Given the description of an element on the screen output the (x, y) to click on. 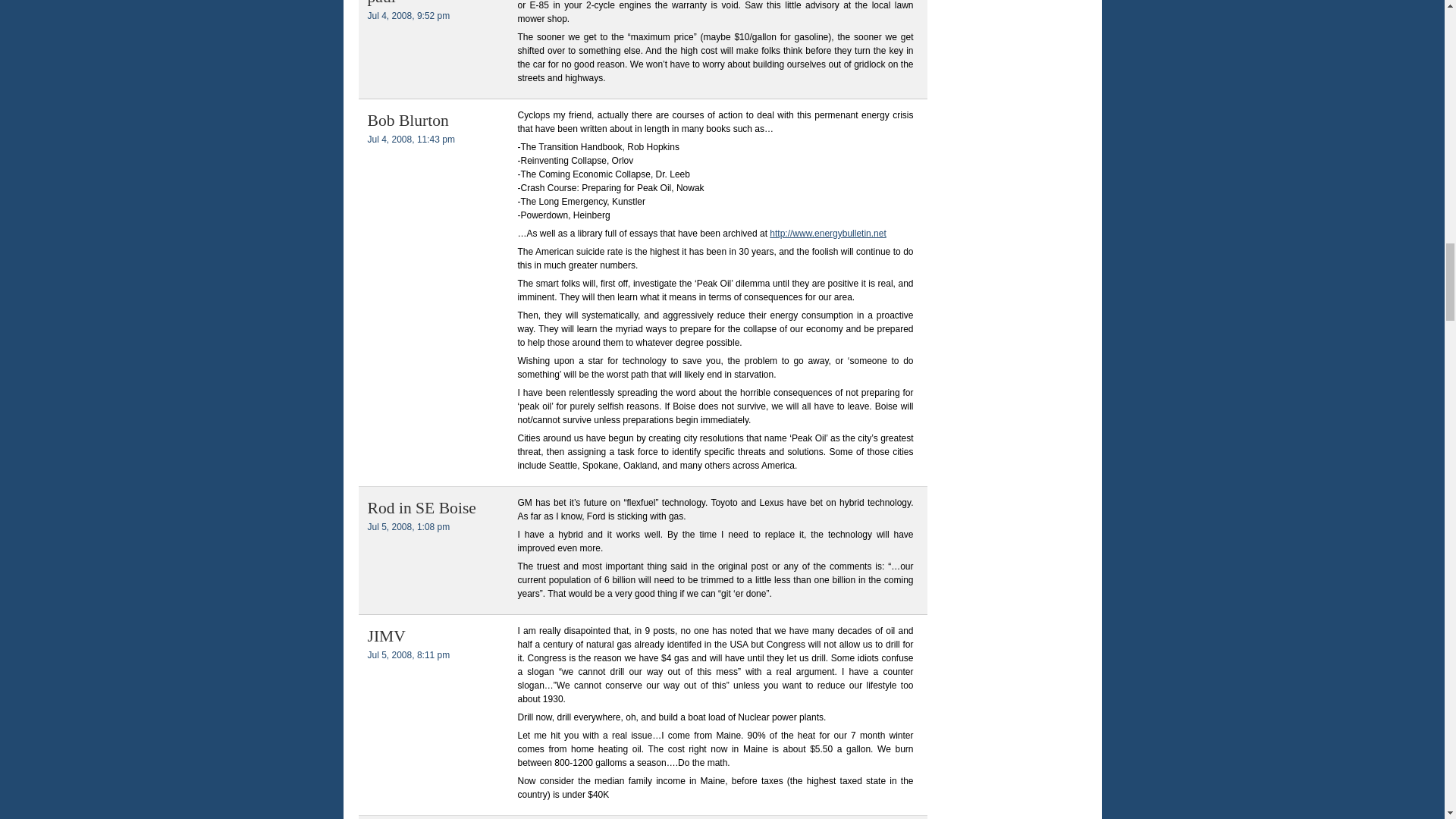
Jul 4, 2008, 9:52 pm (407, 15)
Jul 4, 2008, 11:43 pm (410, 139)
Jul 5, 2008, 1:08 pm (407, 526)
Jul 5, 2008, 8:11 pm (407, 655)
